Given the description of an element on the screen output the (x, y) to click on. 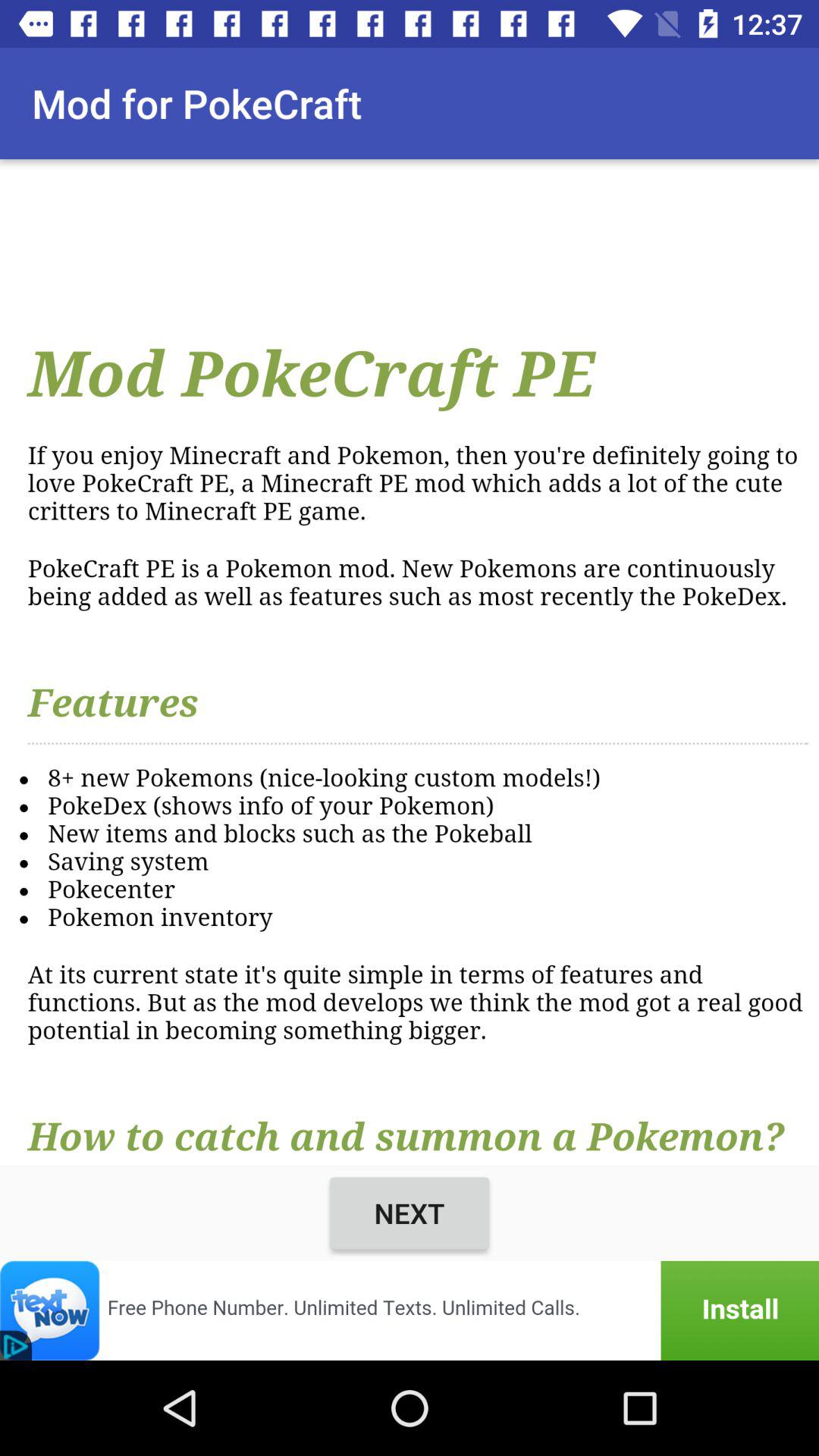
open install page for text now app (409, 1310)
